Given the description of an element on the screen output the (x, y) to click on. 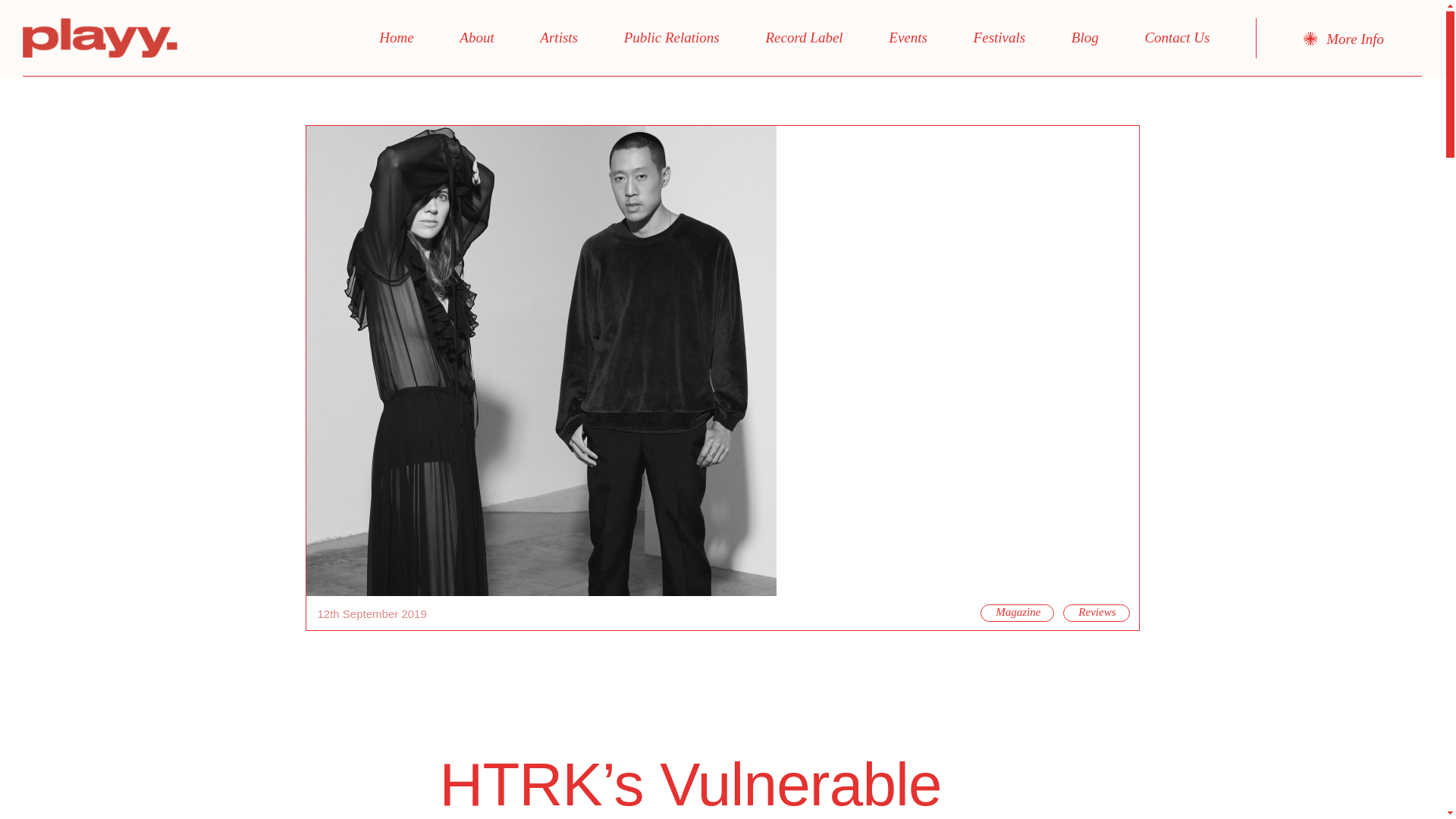
More Info (1343, 38)
Contact Us (1176, 38)
Record Label (804, 38)
Festivals (998, 38)
Public Relations (671, 38)
